Given the description of an element on the screen output the (x, y) to click on. 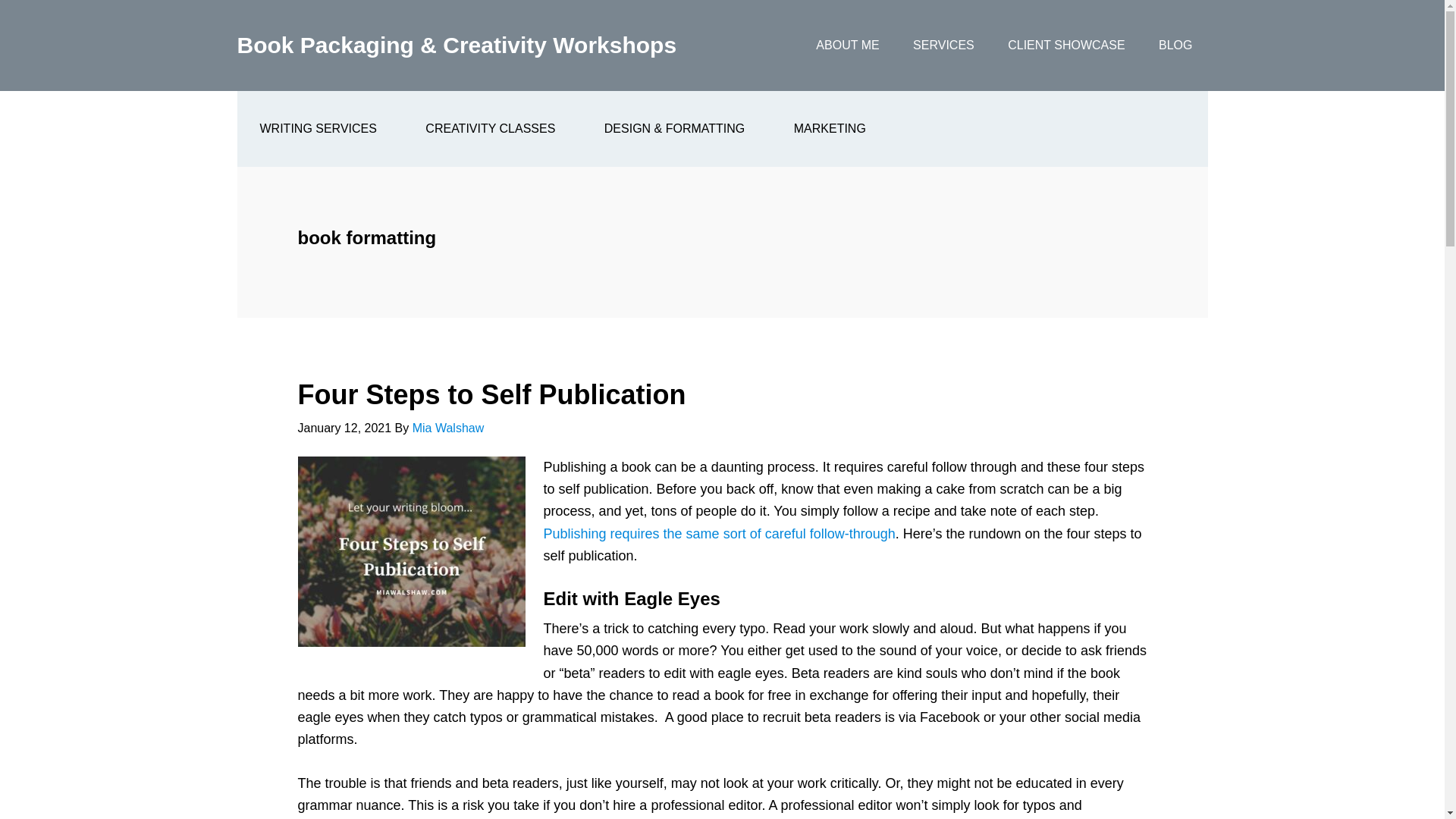
MARKETING (829, 128)
CREATIVITY CLASSES (490, 128)
CLIENT SHOWCASE (1066, 45)
Four Steps to Self Publication (491, 394)
WRITING SERVICES (316, 128)
SERVICES (944, 45)
Mia Walshaw (448, 427)
ABOUT ME (846, 45)
Publishing requires the same sort of careful follow-through (719, 533)
